Given the description of an element on the screen output the (x, y) to click on. 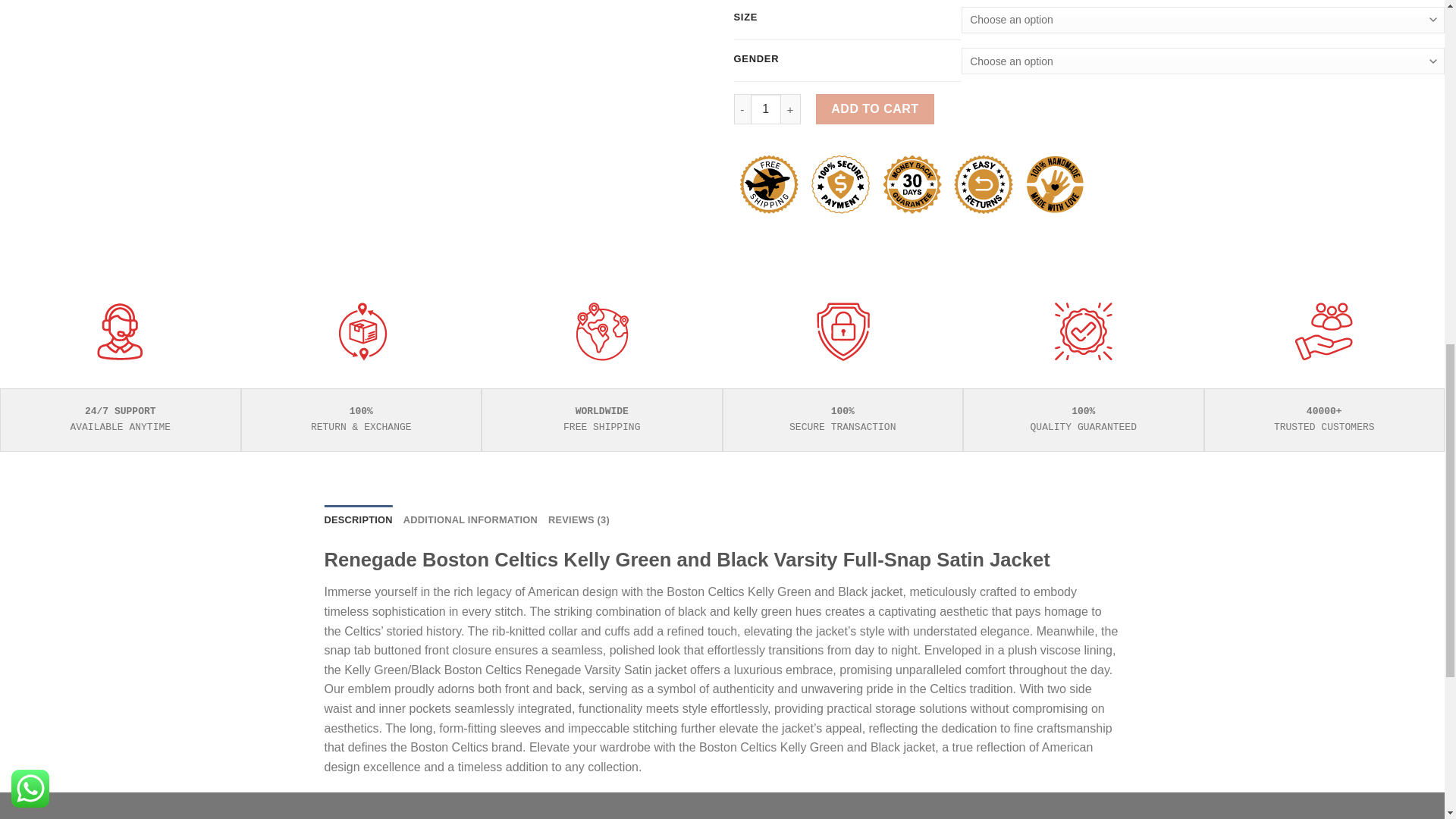
- (742, 109)
1 (765, 109)
Qty (765, 109)
